Given the description of an element on the screen output the (x, y) to click on. 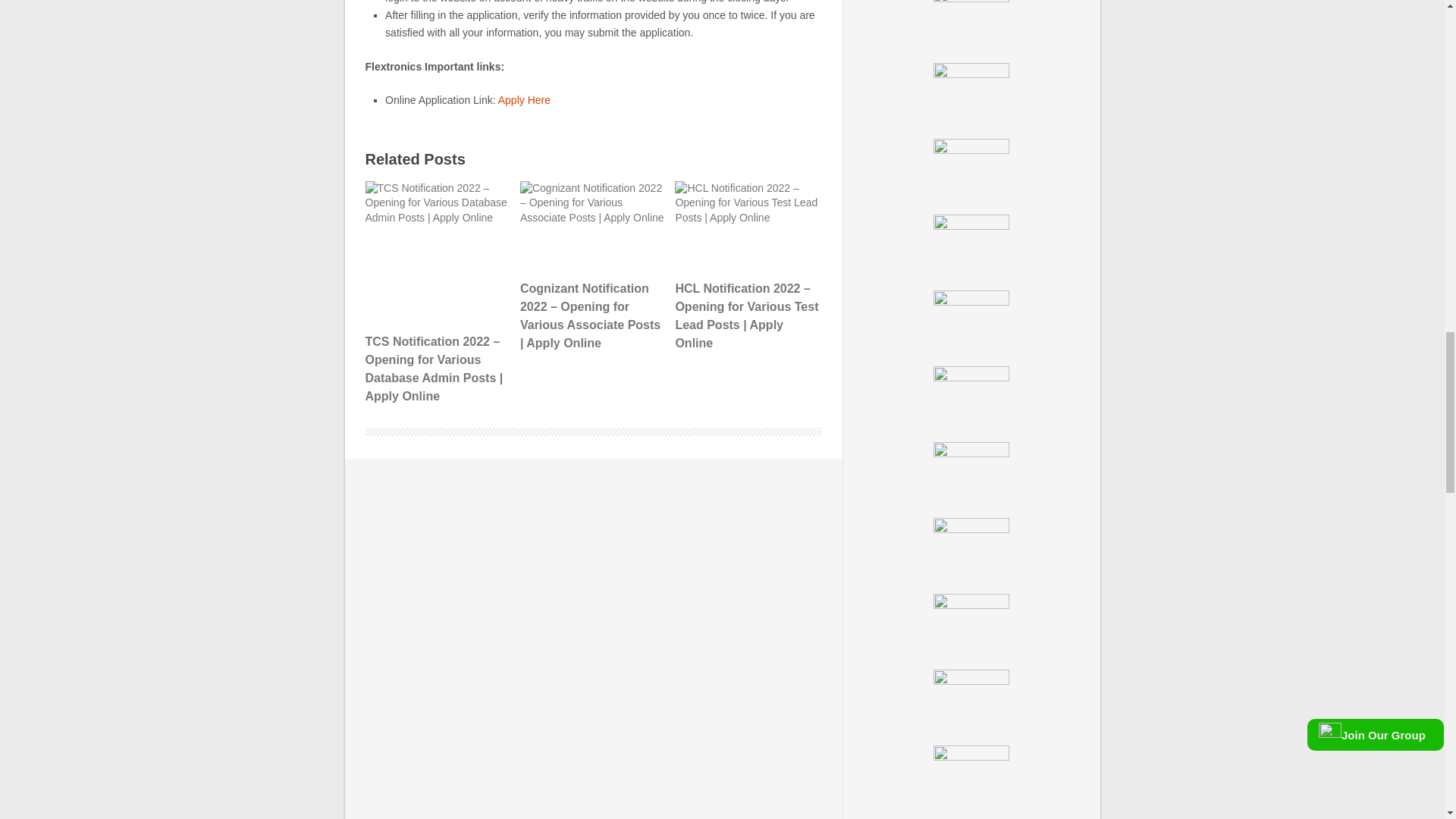
Apply Here (523, 100)
